Given the description of an element on the screen output the (x, y) to click on. 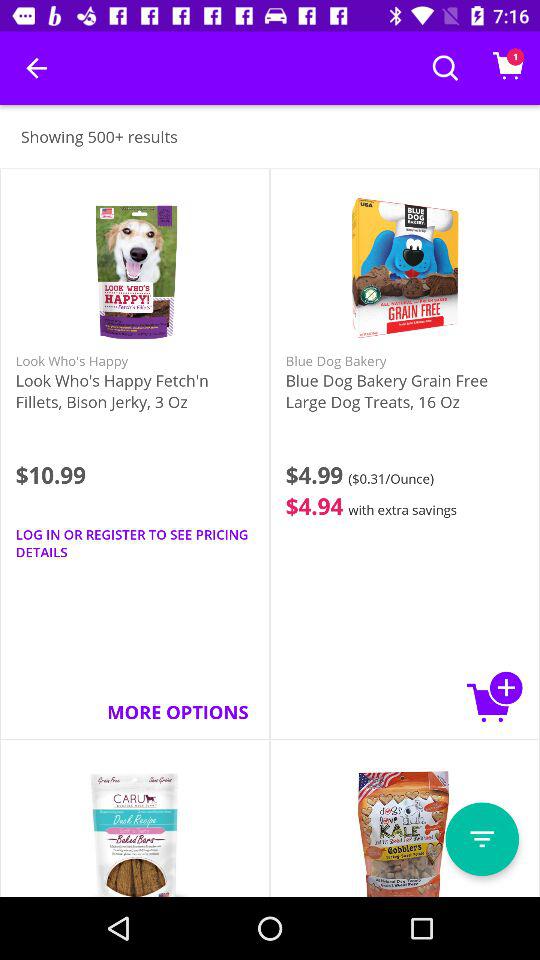
add to shopping cart (495, 696)
